Given the description of an element on the screen output the (x, y) to click on. 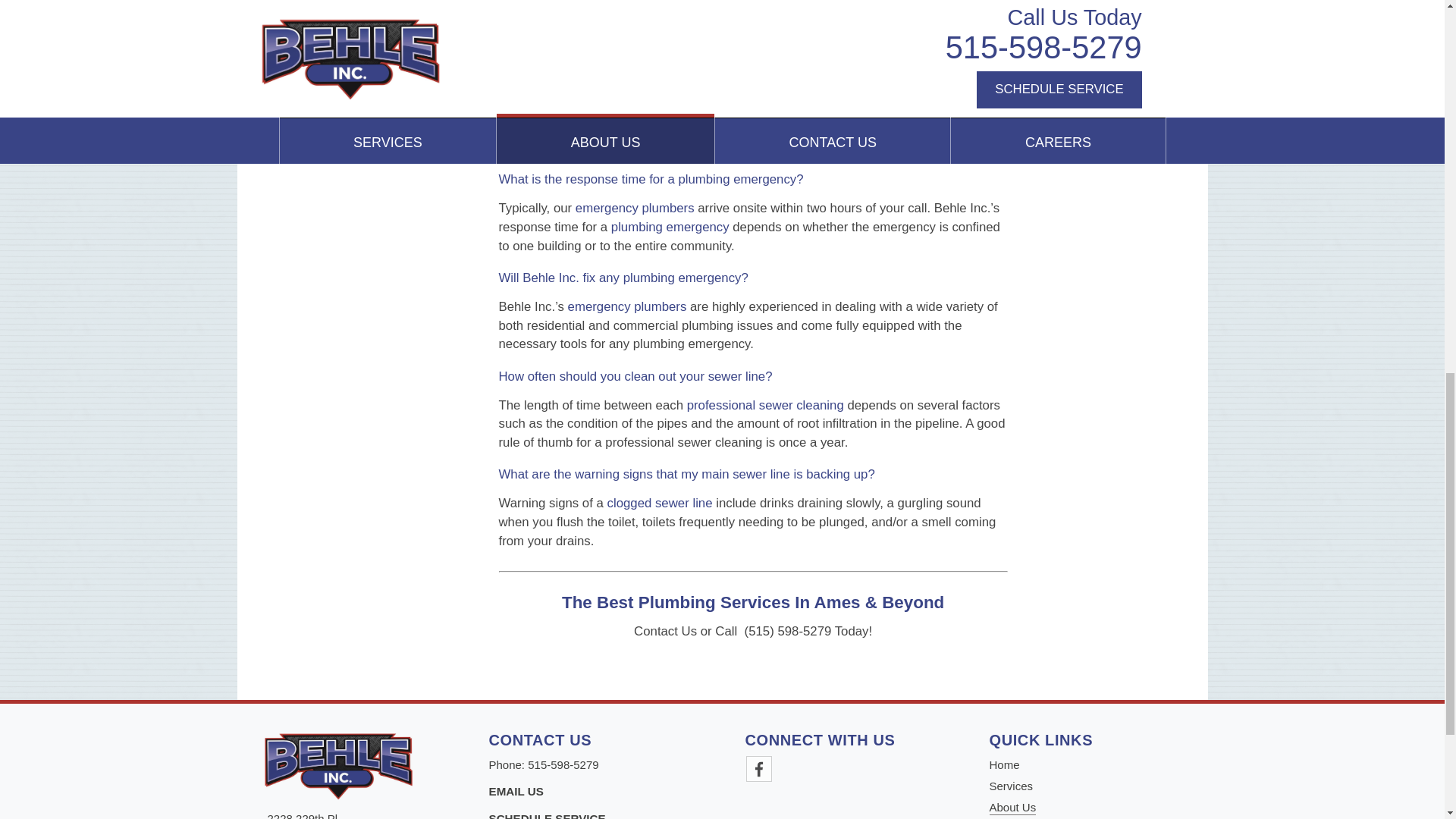
Contact Us (515, 790)
Contact Us (546, 815)
